Given the description of an element on the screen output the (x, y) to click on. 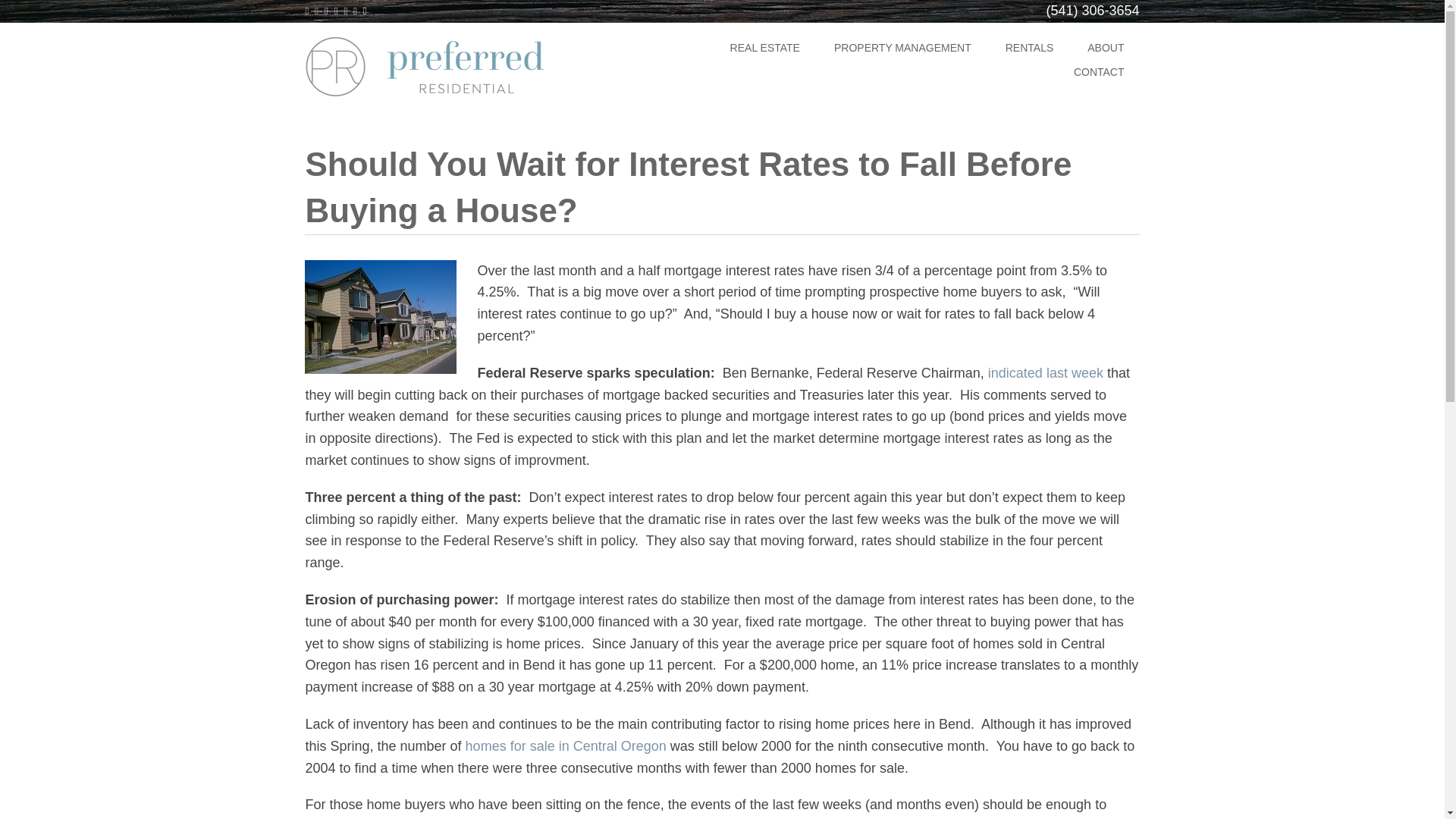
Preferred Residential (456, 64)
RENTALS (1029, 48)
Property Management (902, 48)
Real Estate (764, 48)
ABOUT (1104, 48)
CONTACT (1099, 72)
Rentals (1029, 48)
indicated last week (1045, 372)
homes for sale in Central Oregon (565, 745)
PROPERTY MANAGEMENT (902, 48)
